Given the description of an element on the screen output the (x, y) to click on. 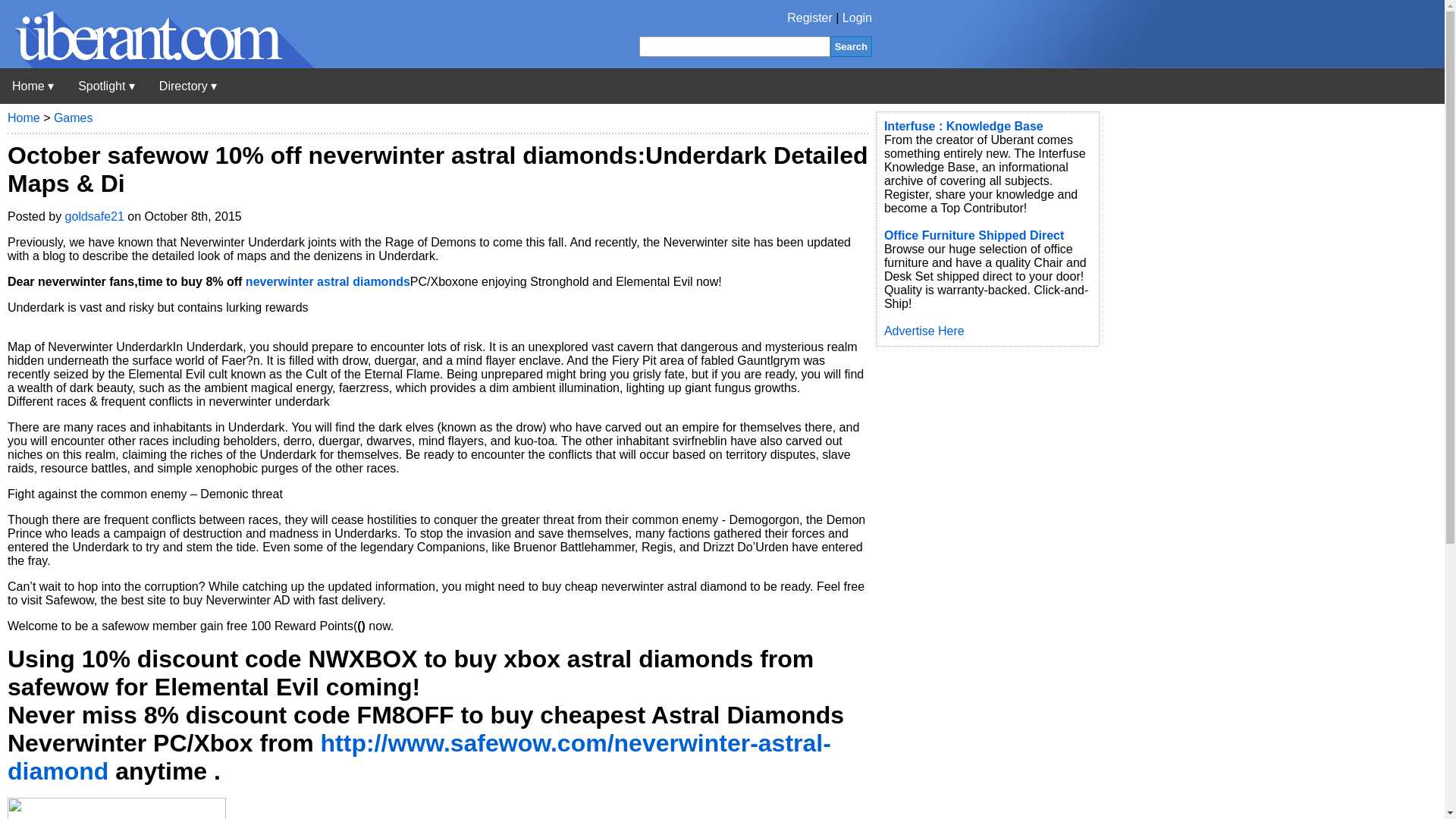
Search (850, 46)
Uberant (157, 63)
Register (809, 17)
Login (857, 17)
Search (850, 46)
Uberant (32, 85)
